Given the description of an element on the screen output the (x, y) to click on. 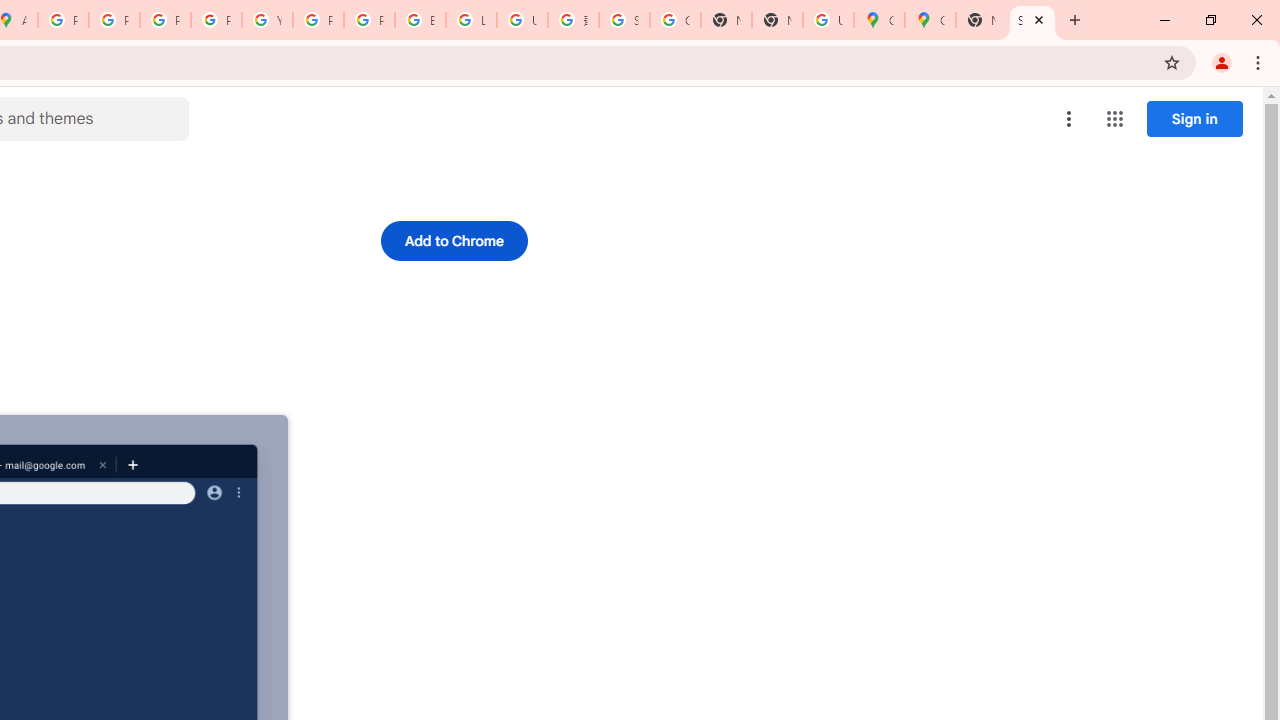
New Tab (981, 20)
